Given the description of an element on the screen output the (x, y) to click on. 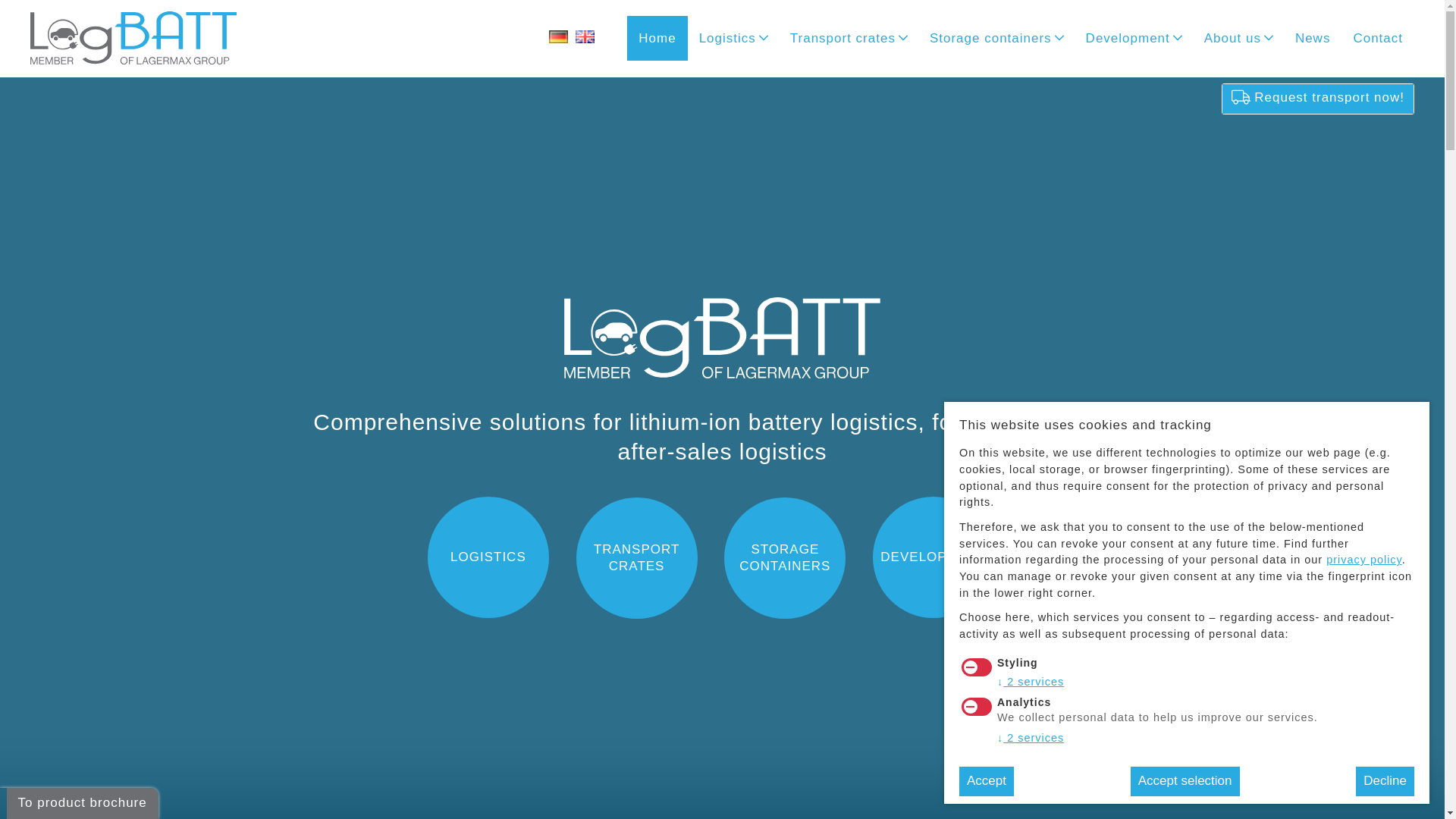
Accept (986, 781)
Accept selection (1185, 781)
Decline (1384, 781)
Home (657, 37)
Edit website consents (1411, 785)
Logistics (732, 37)
Transport crates (848, 37)
privacy policy (1364, 559)
Request transport now! (1318, 98)
